Given the description of an element on the screen output the (x, y) to click on. 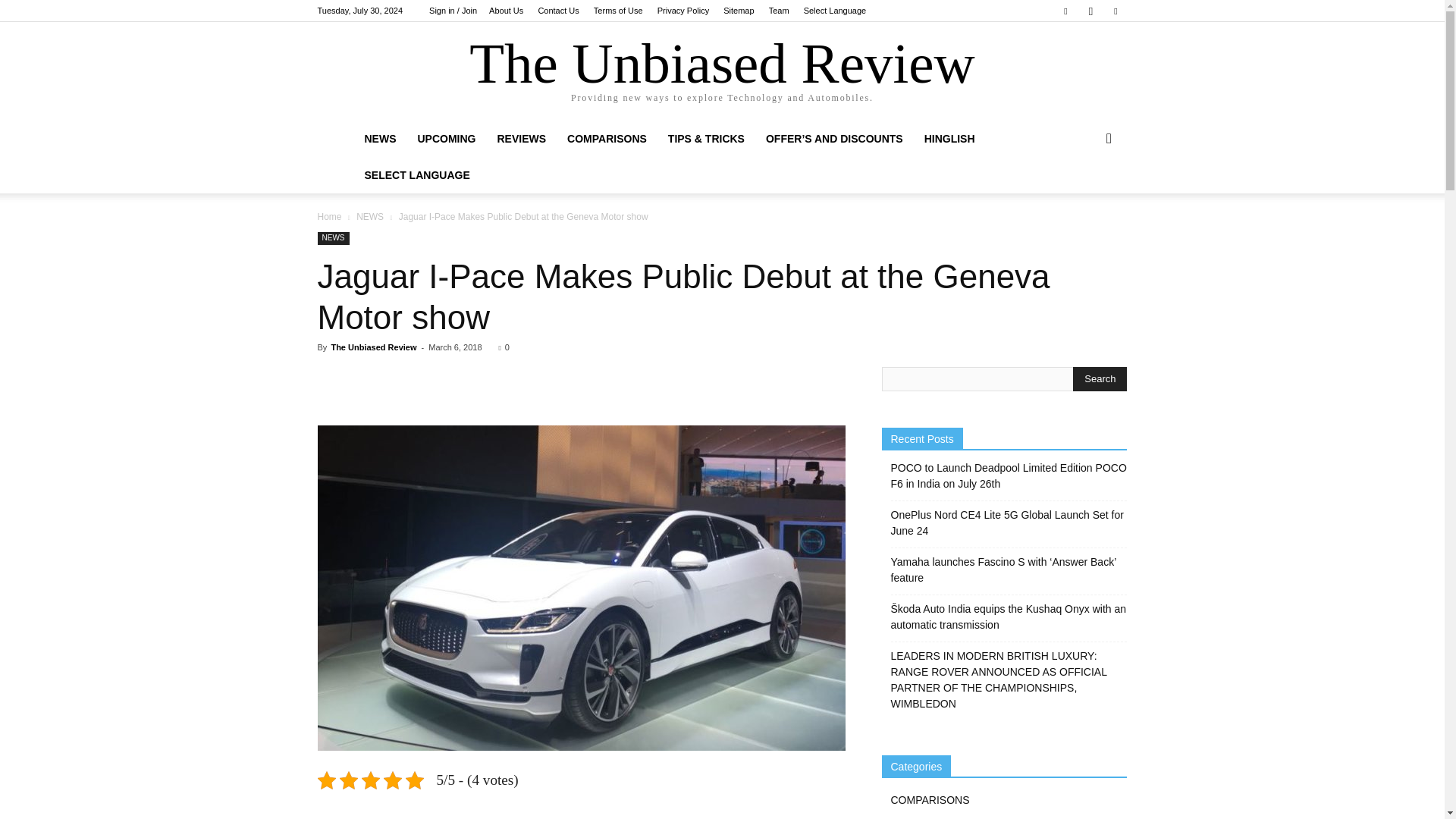
Twitter (1114, 10)
About Us (505, 10)
Sitemap (738, 10)
Instagram (1090, 10)
Search (1099, 378)
Terms of Use (618, 10)
Contact Us (557, 10)
Select Language (834, 10)
Team (778, 10)
Privacy Policy (683, 10)
Facebook (1065, 10)
NEWS (379, 138)
